Given the description of an element on the screen output the (x, y) to click on. 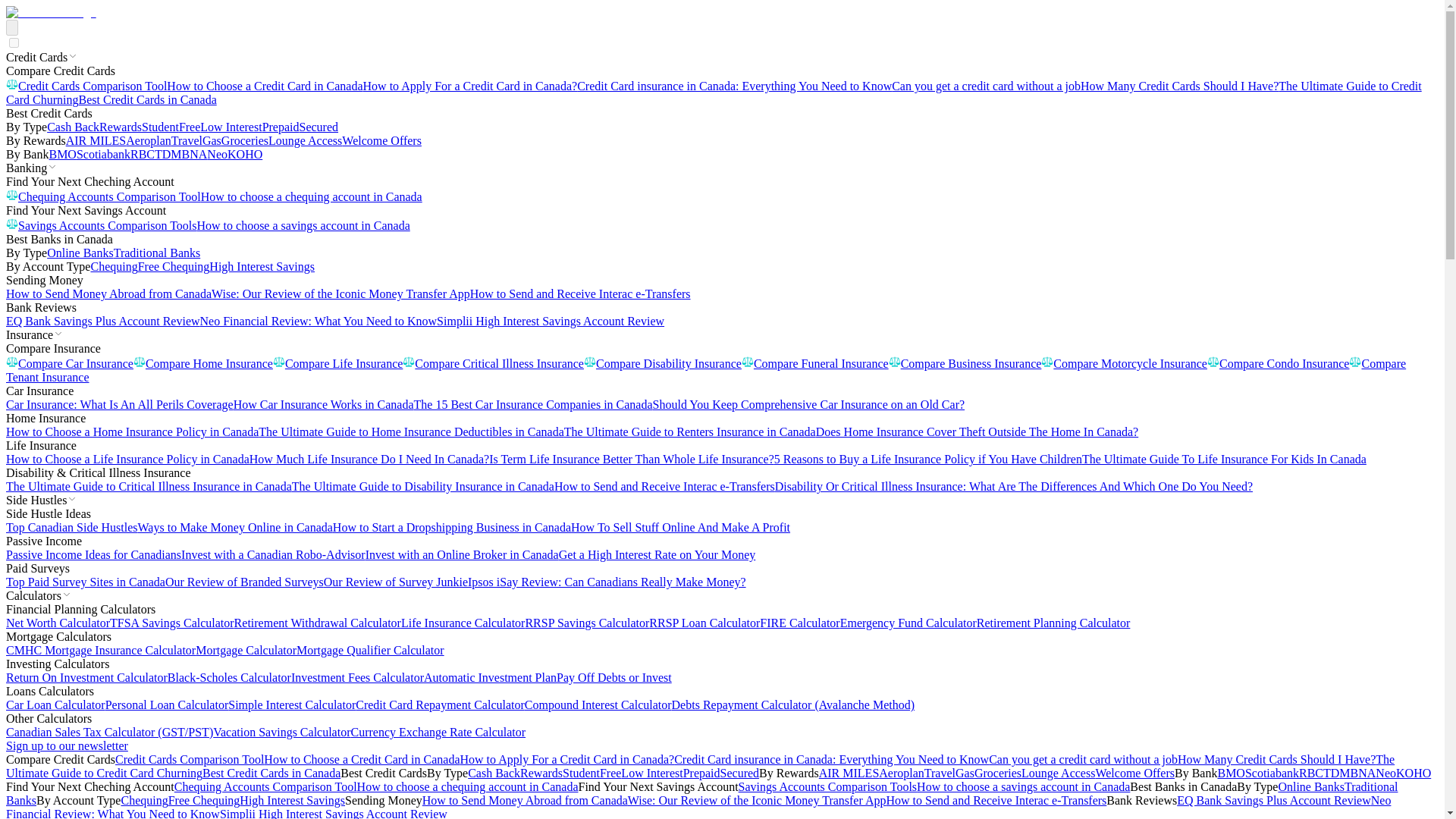
TD (162, 154)
Scotiabank (104, 154)
Best Credit Cards in Canada (147, 99)
RBC (142, 154)
How to Apply For a Credit Card in Canada? (470, 85)
Low Interest (231, 126)
Rewards (120, 126)
Free (189, 126)
Welcome Offers (382, 140)
Chequing Accounts Comparison Tool (102, 196)
Cash Back (72, 126)
Chequing (113, 266)
Credit Cards Comparison Tool (86, 85)
Lounge Access (304, 140)
High Interest Savings (261, 266)
